Given the description of an element on the screen output the (x, y) to click on. 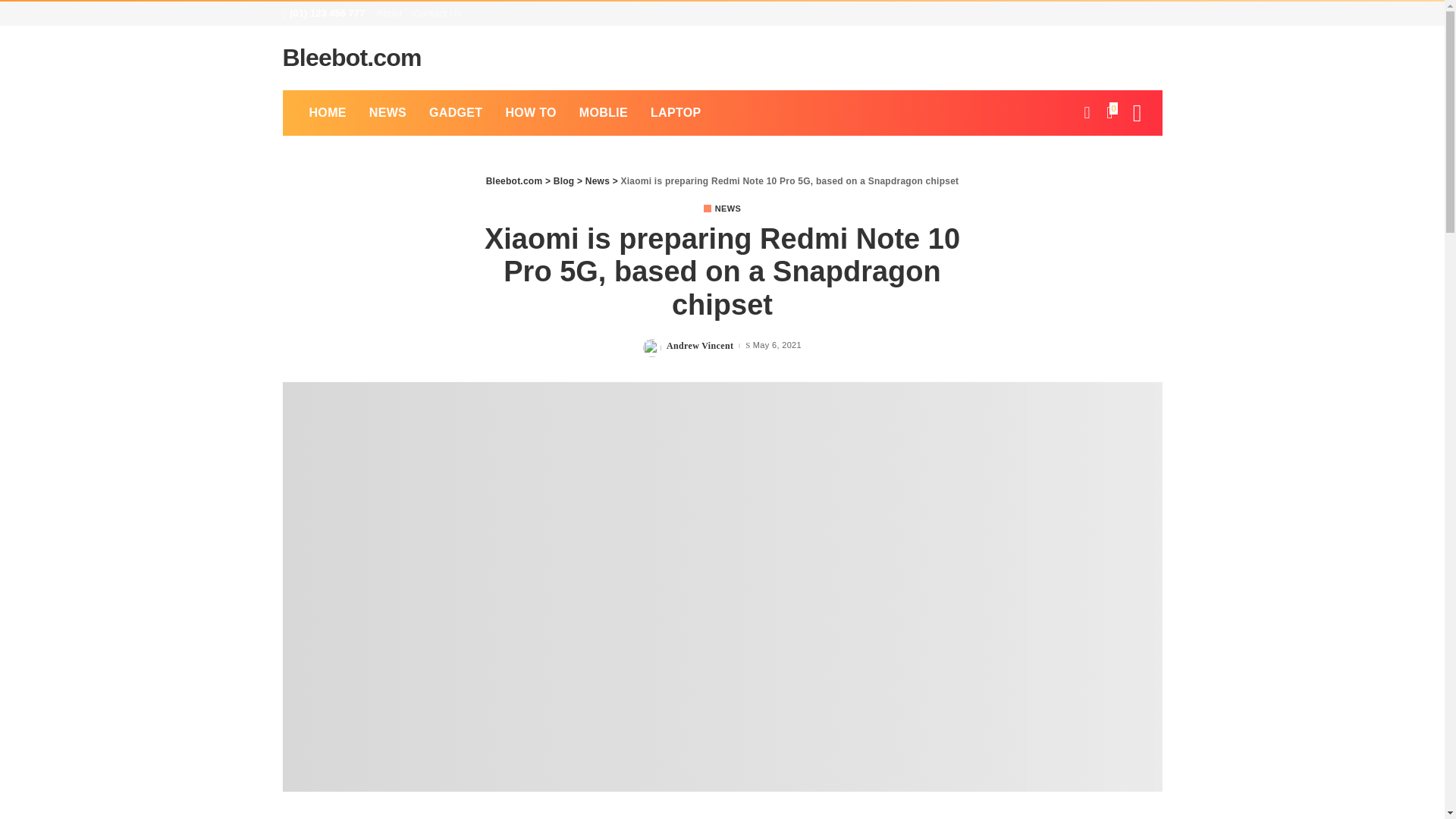
Bleebot.com (351, 57)
Bleebot.com (351, 57)
About (391, 13)
Contact Us (436, 13)
